Given the description of an element on the screen output the (x, y) to click on. 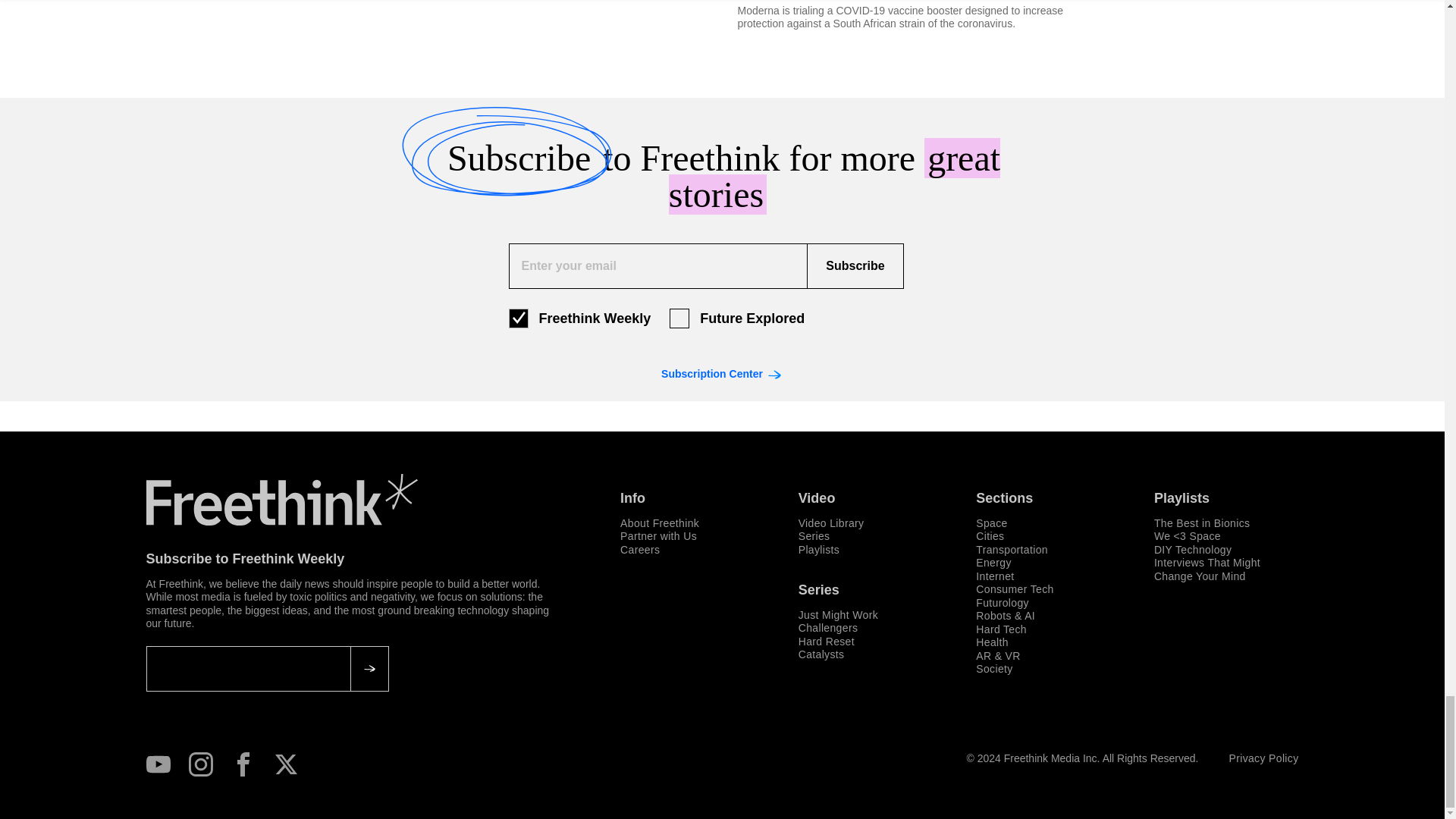
Subscribe (854, 266)
